Given the description of an element on the screen output the (x, y) to click on. 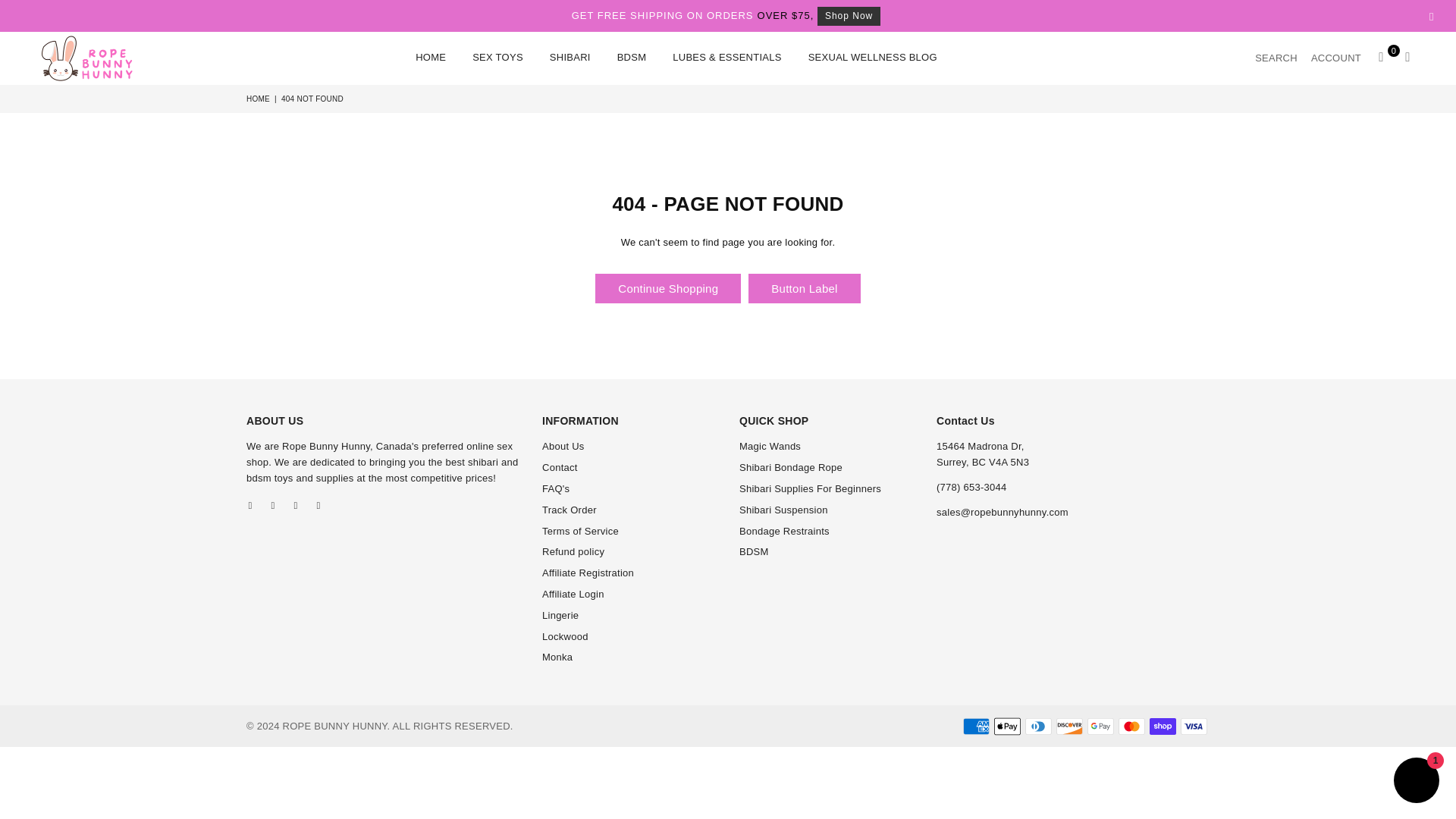
Diners Club (1038, 726)
BDSM (631, 58)
HOME (430, 58)
CART (1381, 57)
SHIBARI (570, 58)
Rope Bunny Hunny on Facebook (250, 505)
Google Pay (1100, 726)
Apple Pay (1007, 726)
SEARCH (1275, 57)
Back to the home page (259, 99)
Rope Bunny Hunny on Twitter (272, 505)
Shop Pay (1163, 726)
ACCOUNT (1336, 57)
ROPE BUNNY HUNNY (100, 58)
Discover (1070, 726)
